Given the description of an element on the screen output the (x, y) to click on. 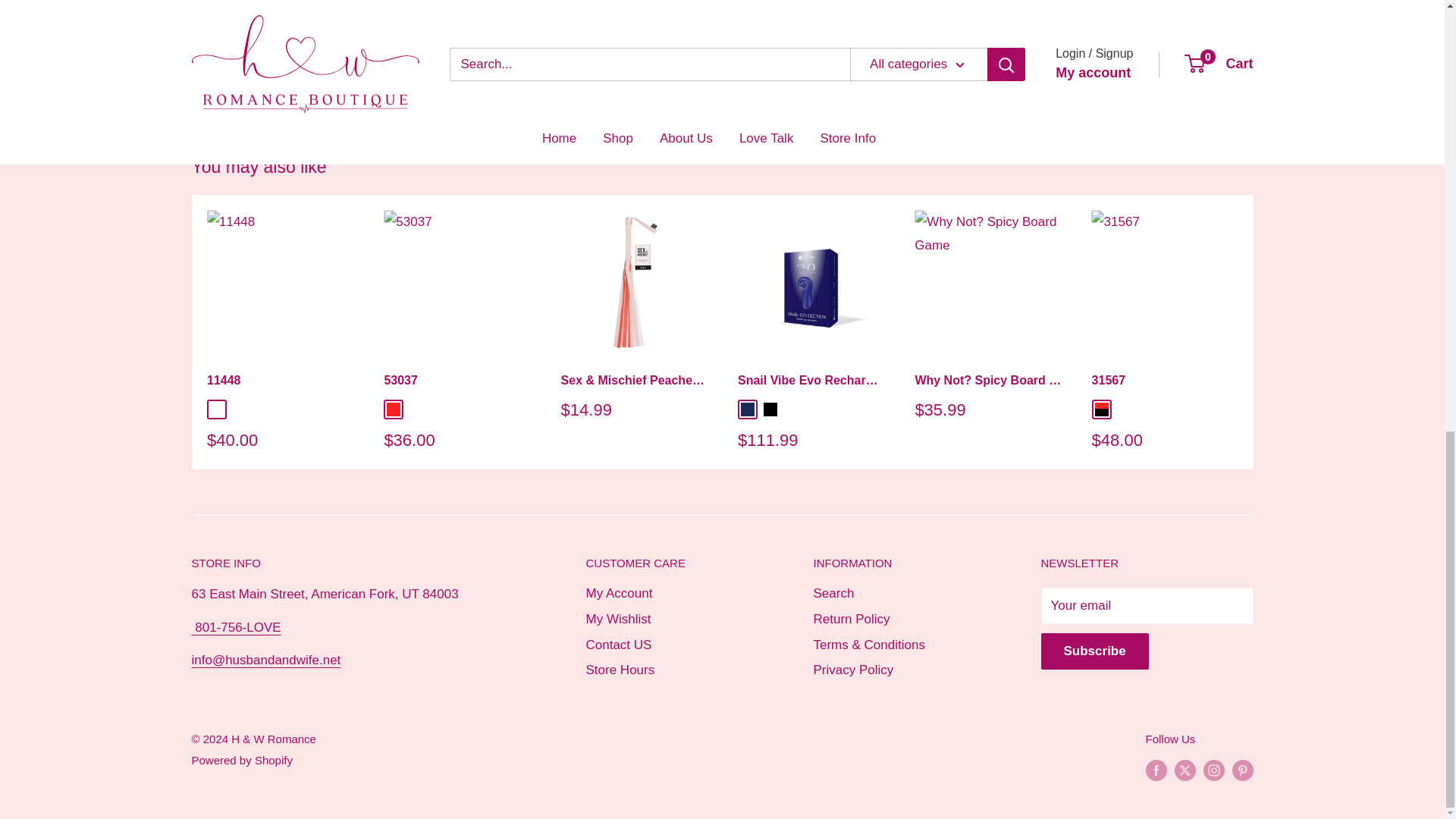
Navy (746, 409)
Black (769, 409)
Red (393, 409)
